Given the description of an element on the screen output the (x, y) to click on. 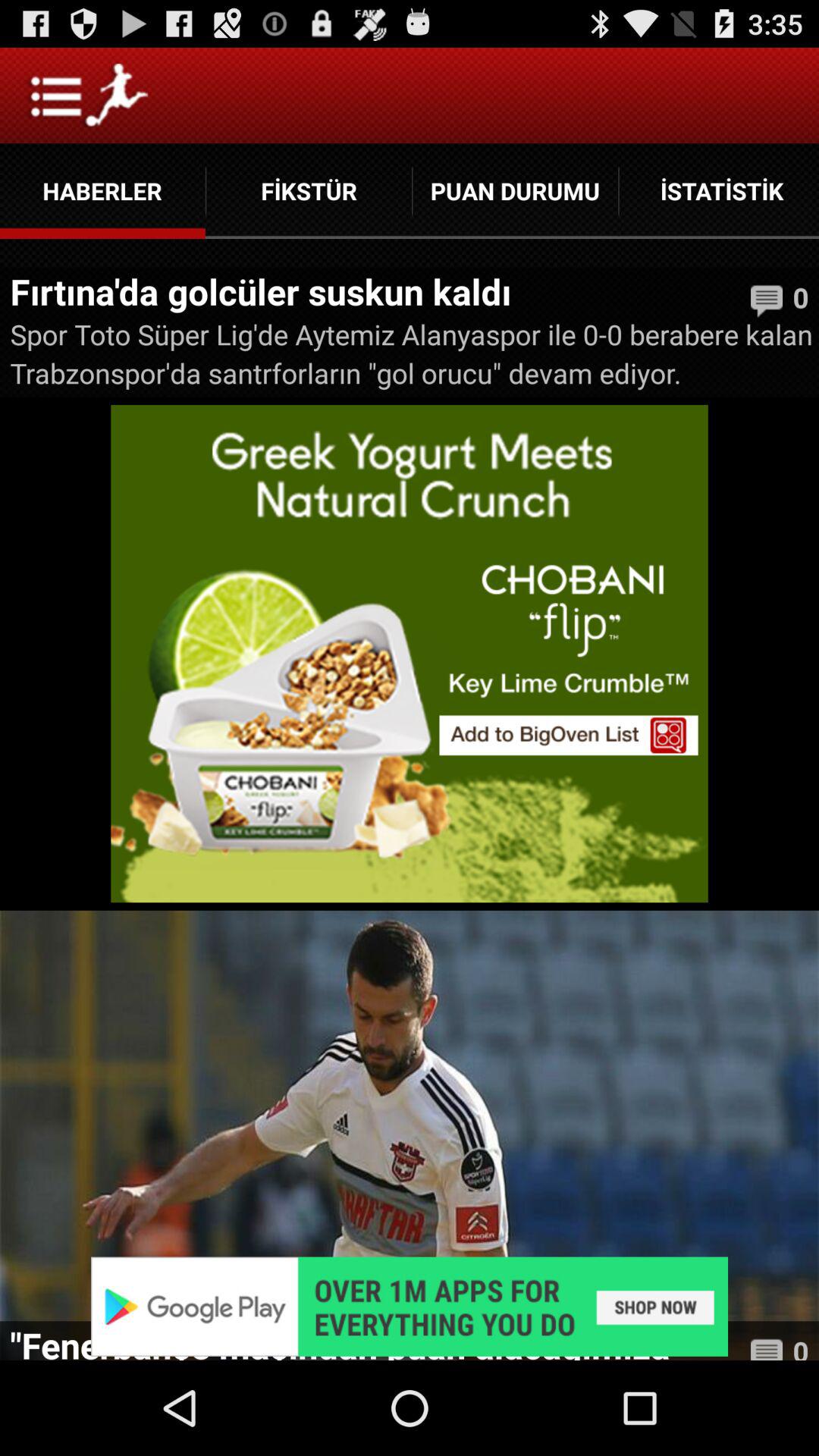
adverisement app select (409, 1306)
